Given the description of an element on the screen output the (x, y) to click on. 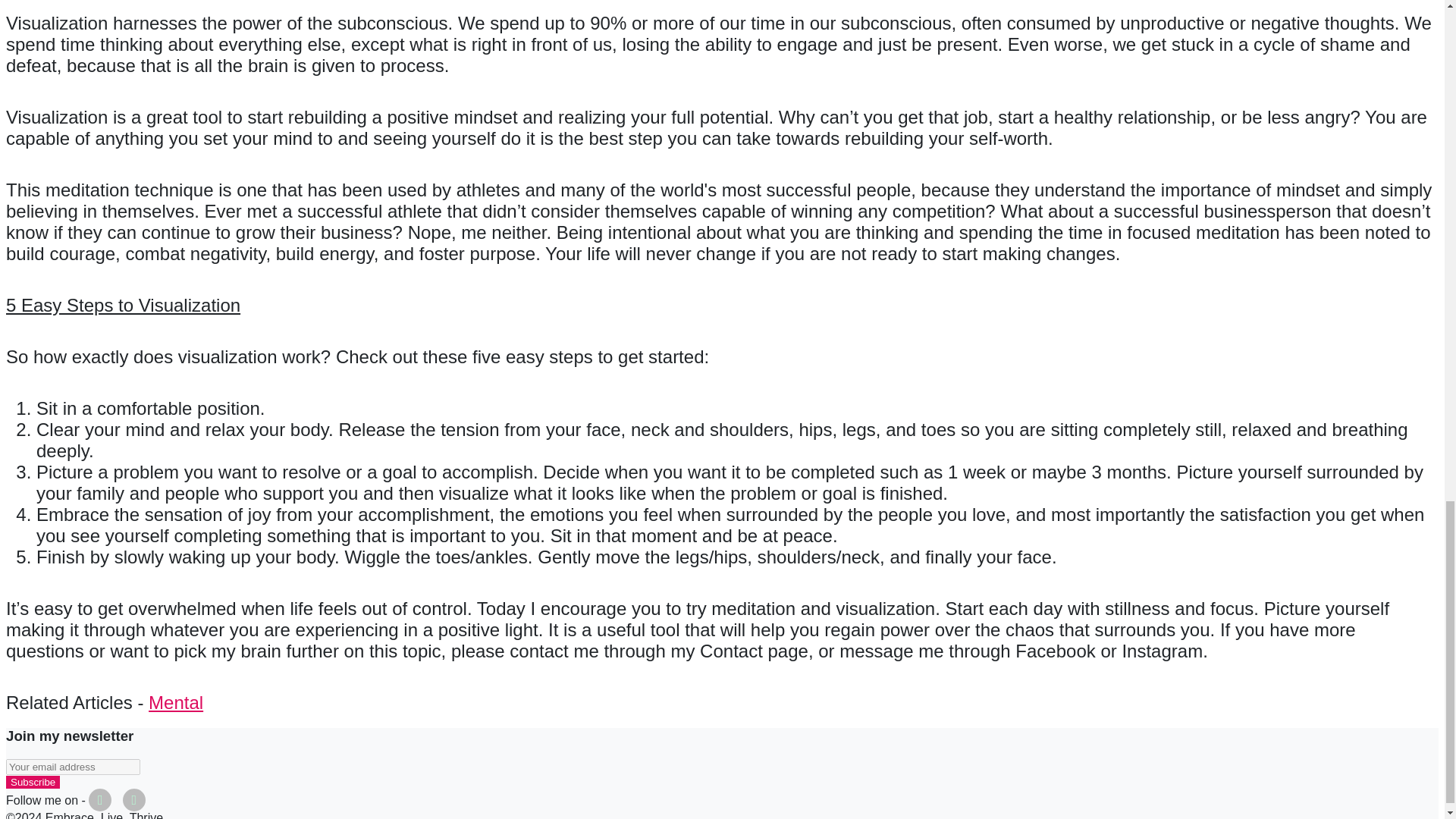
Subscribe (32, 781)
Mental (175, 702)
